Given the description of an element on the screen output the (x, y) to click on. 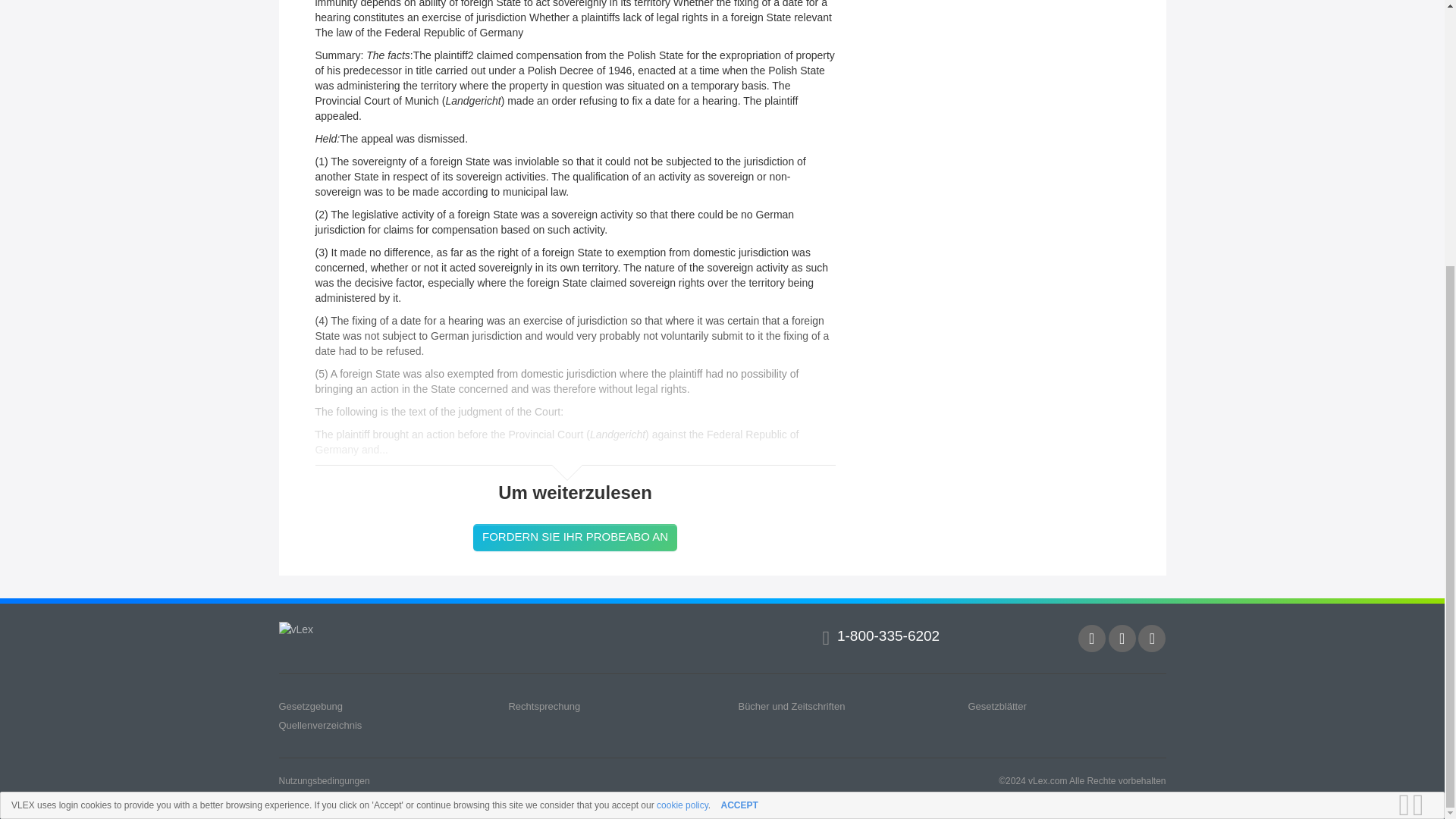
Quellenverzeichnis (320, 725)
Rechtsprechung (543, 706)
vLex (296, 629)
Nutzungsbedingungen (324, 780)
SCHLIESSEN (1422, 418)
Rechtsprechung (543, 706)
Quellenverzeichnis (320, 725)
Nutzungsbedingungen (324, 780)
cookie policy (681, 419)
Gesetzgebung (311, 706)
